Given the description of an element on the screen output the (x, y) to click on. 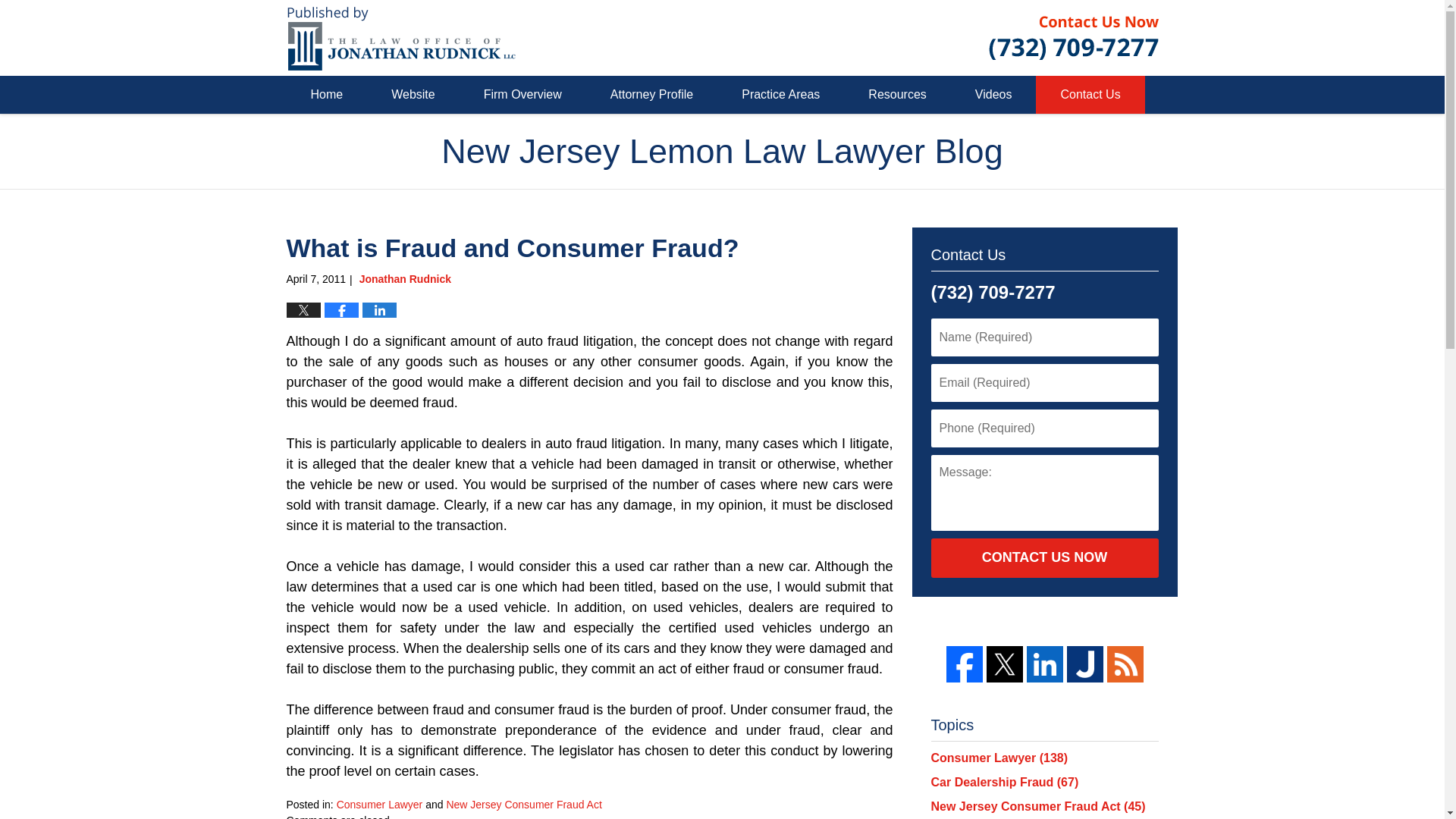
New Jersey Consumer Fraud Act (523, 804)
Justia (1083, 664)
View all posts in New Jersey Consumer Fraud Act (523, 804)
Published By The Law Office of Jonathan Rudnick (1073, 37)
Feed (1124, 664)
New Jersey Lemon Law Lawyer Blog (401, 37)
Practice Areas (780, 94)
Firm Overview (523, 94)
Jonathan Rudnick (405, 278)
Website (413, 94)
View all posts in Consumer Lawyer (379, 804)
Contact Us (1089, 94)
LinkedIn (1044, 664)
Facebook (964, 664)
Resources (897, 94)
